Given the description of an element on the screen output the (x, y) to click on. 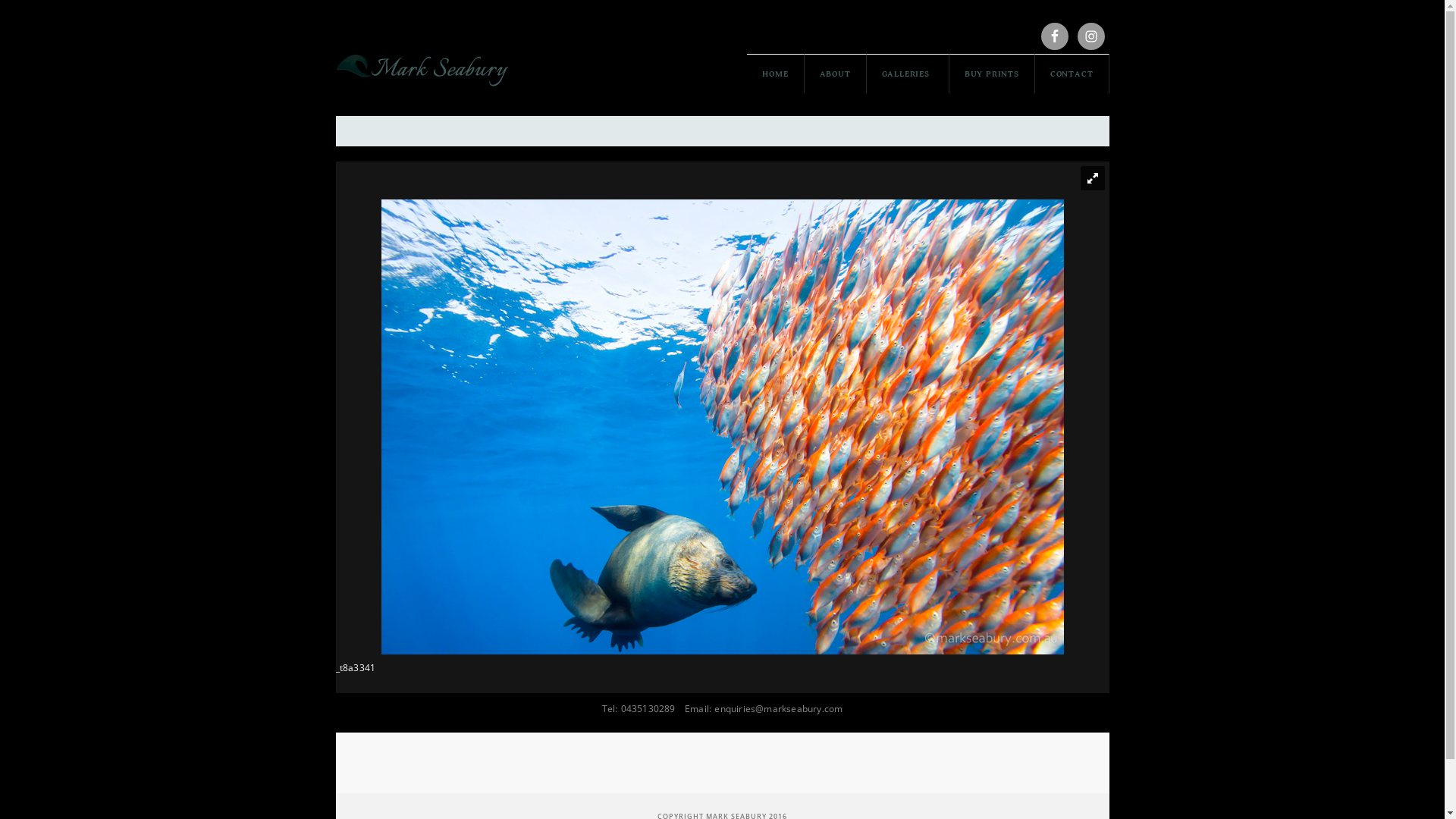
HOME Element type: text (774, 73)
BUY PRINTS Element type: text (992, 73)
CONTACT Element type: text (1072, 73)
ABOUT Element type: text (835, 73)
